Given the description of an element on the screen output the (x, y) to click on. 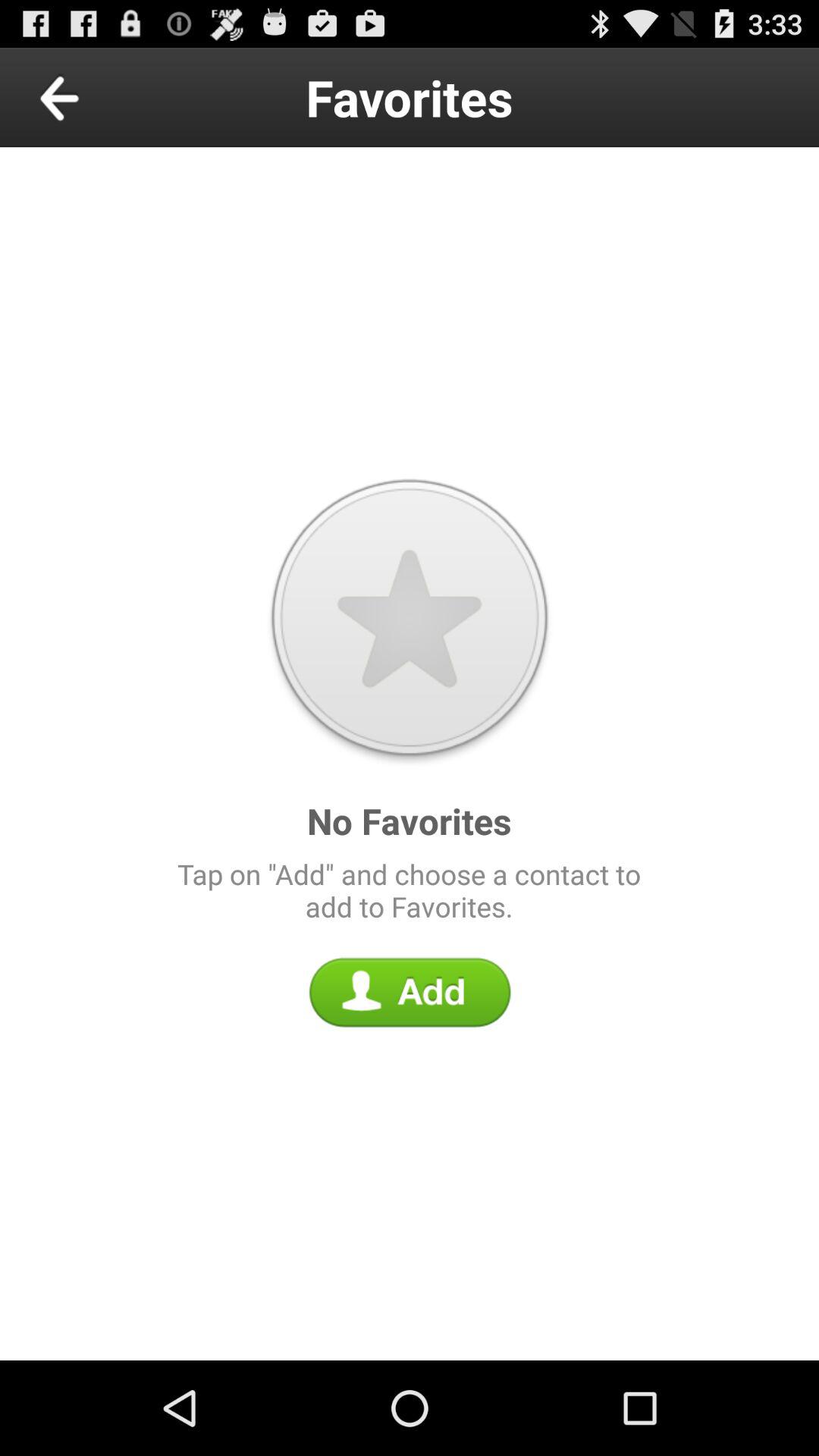
launch the item at the bottom (409, 992)
